Given the description of an element on the screen output the (x, y) to click on. 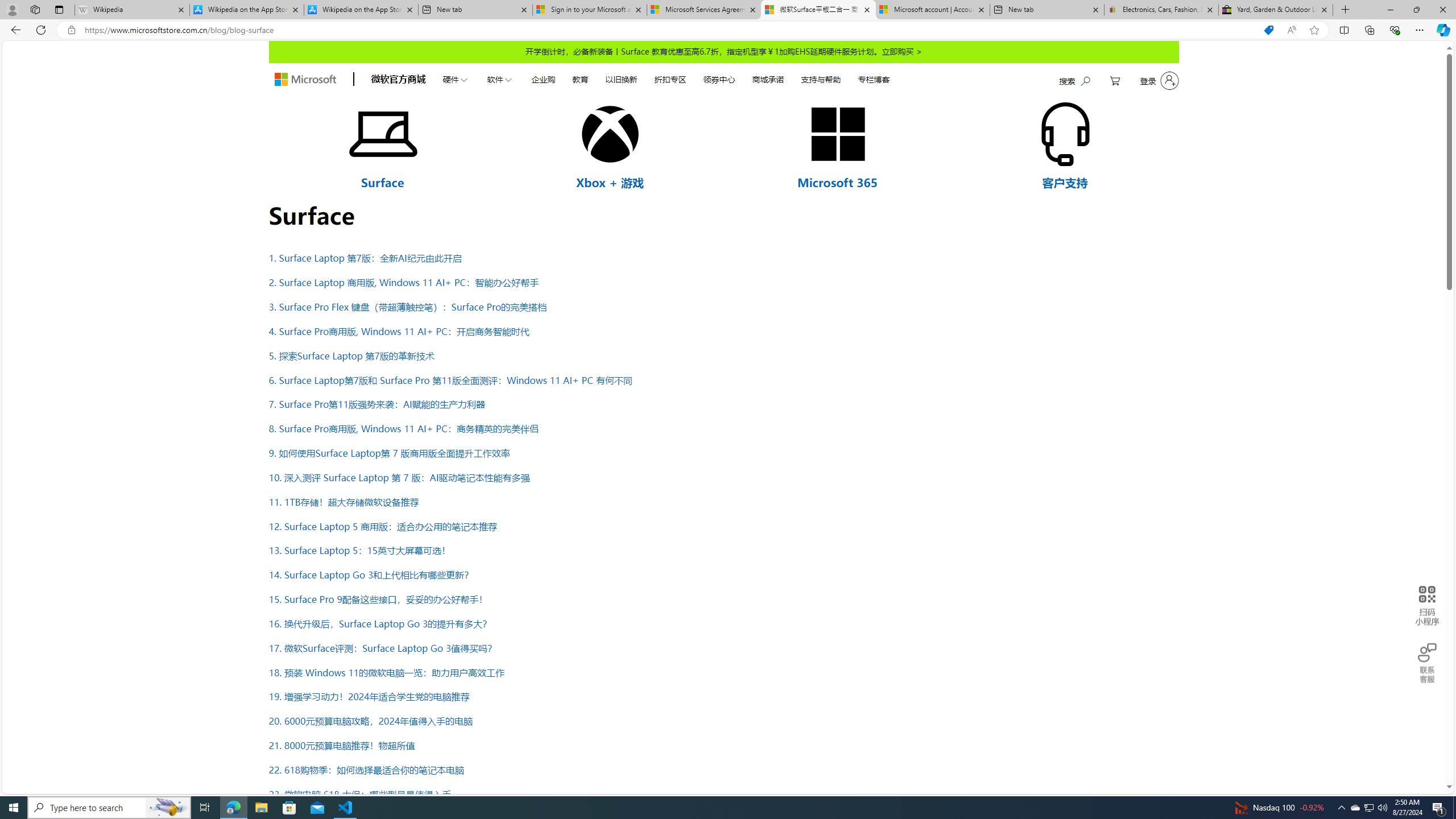
Add this page to favorites (Ctrl+D) (1314, 29)
Restore (1416, 9)
Electronics, Cars, Fashion, Collectibles & More | eBay (1161, 9)
Microsoft Services Agreement (703, 9)
Close (1442, 9)
Settings and more (Alt+F) (1419, 29)
AutomationID: autoNav (665, 78)
Shopping in Microsoft Edge (1268, 29)
Collections (1369, 29)
Refresh (40, 29)
Yard, Garden & Outdoor Living (1276, 9)
My Cart (1115, 80)
